Given the description of an element on the screen output the (x, y) to click on. 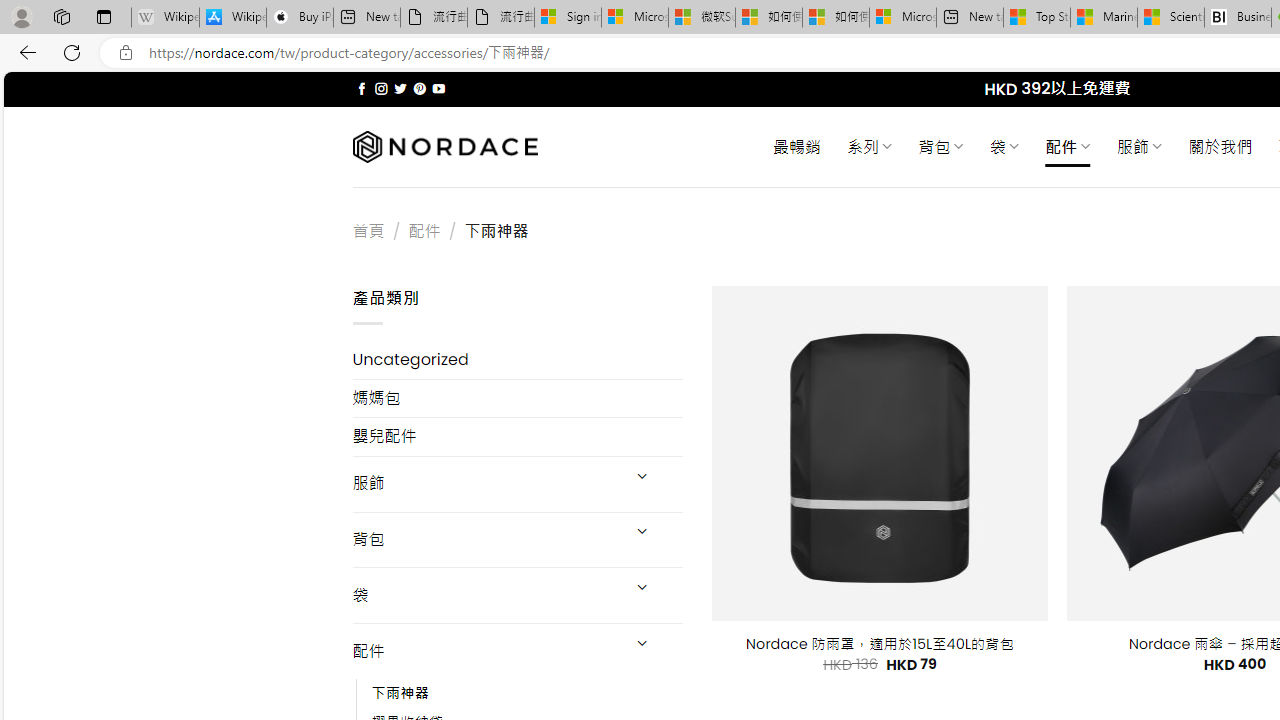
Follow on Pinterest (419, 88)
Follow on Instagram (381, 88)
Follow on YouTube (438, 88)
Microsoft account | Account Checkup (902, 17)
